Given the description of an element on the screen output the (x, y) to click on. 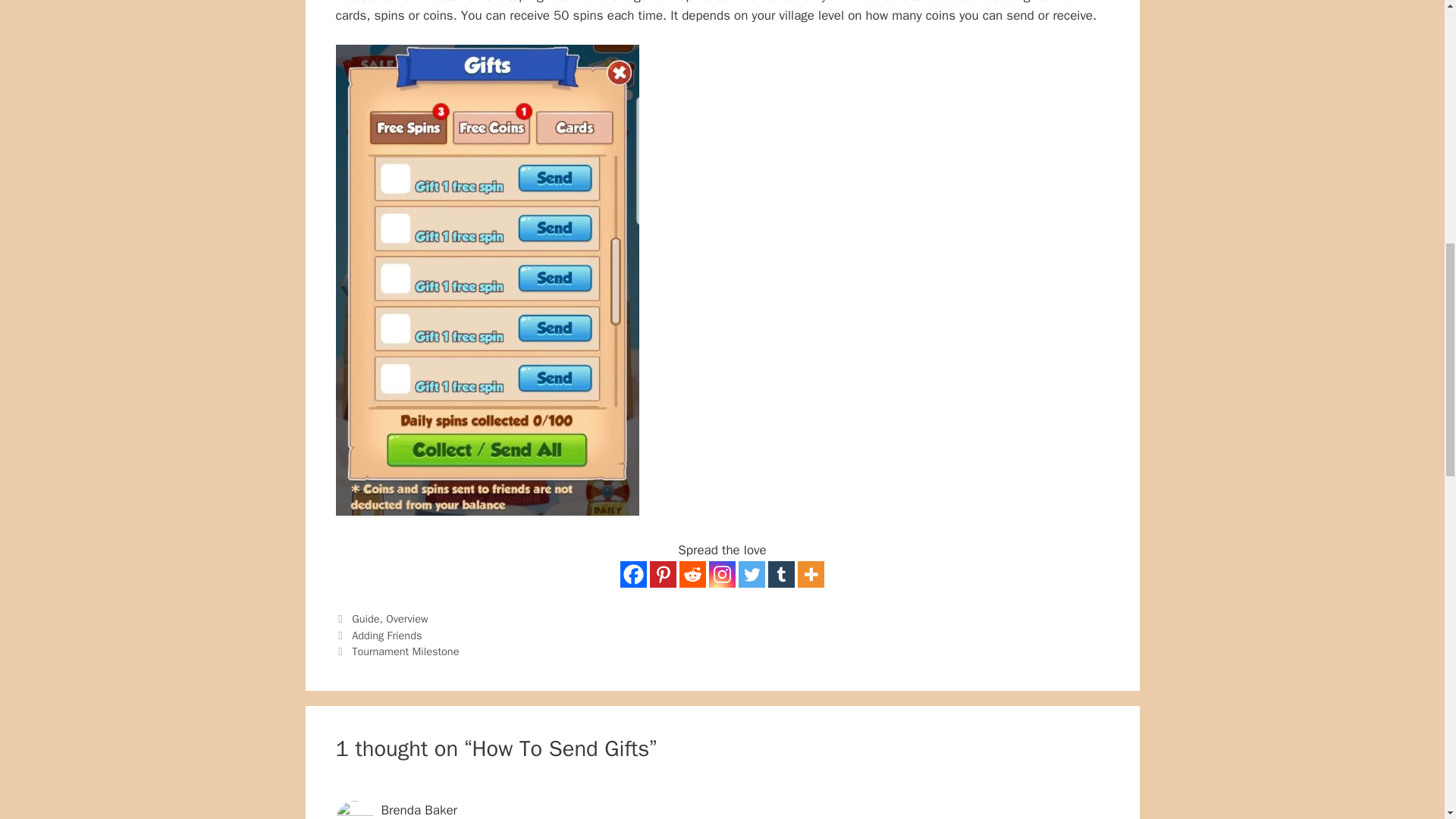
Facebook (633, 574)
Reddit (692, 574)
Pinterest (663, 574)
